Given the description of an element on the screen output the (x, y) to click on. 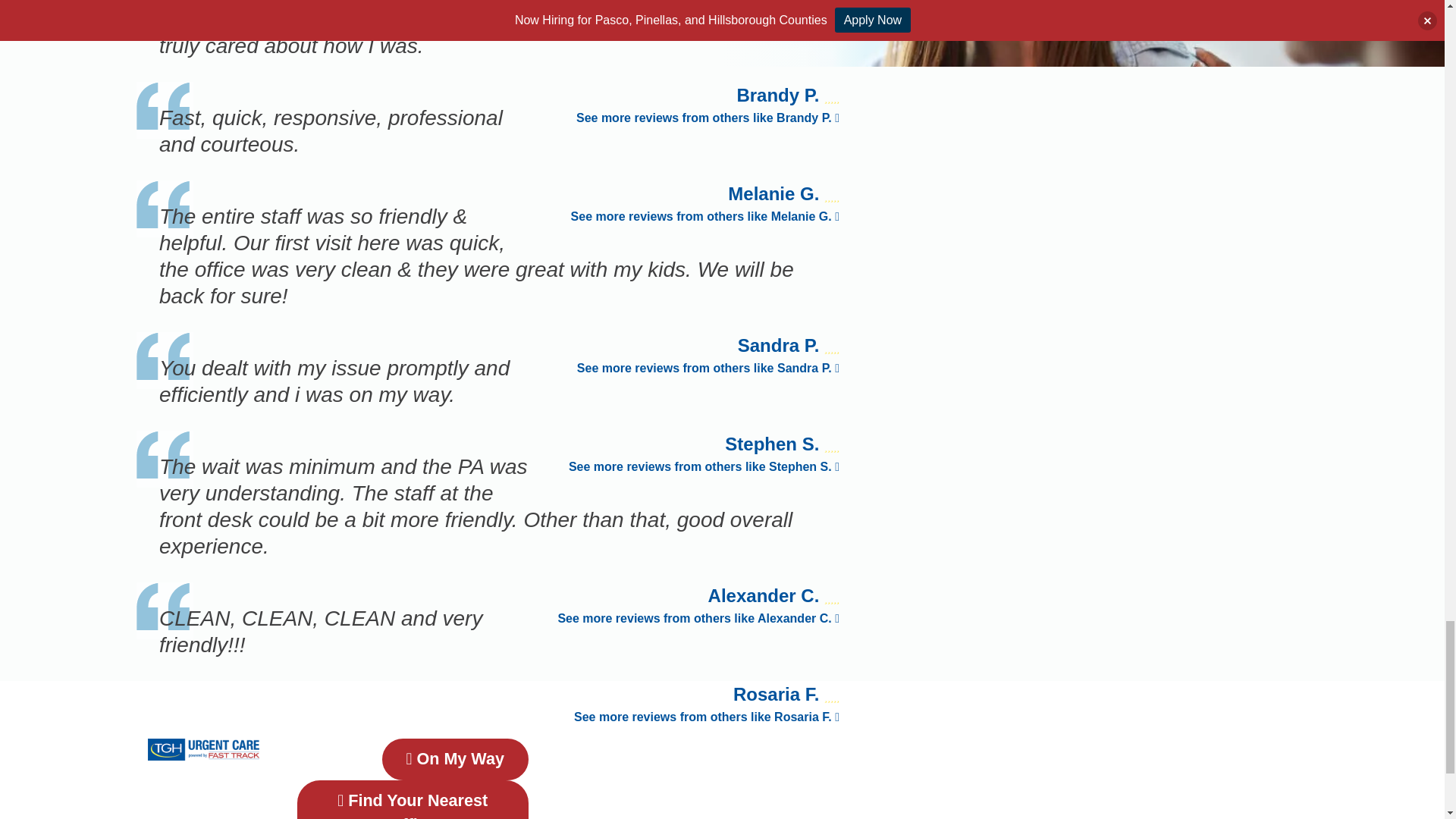
TGH Urgent Care powered by Fast Track (203, 749)
